Given the description of an element on the screen output the (x, y) to click on. 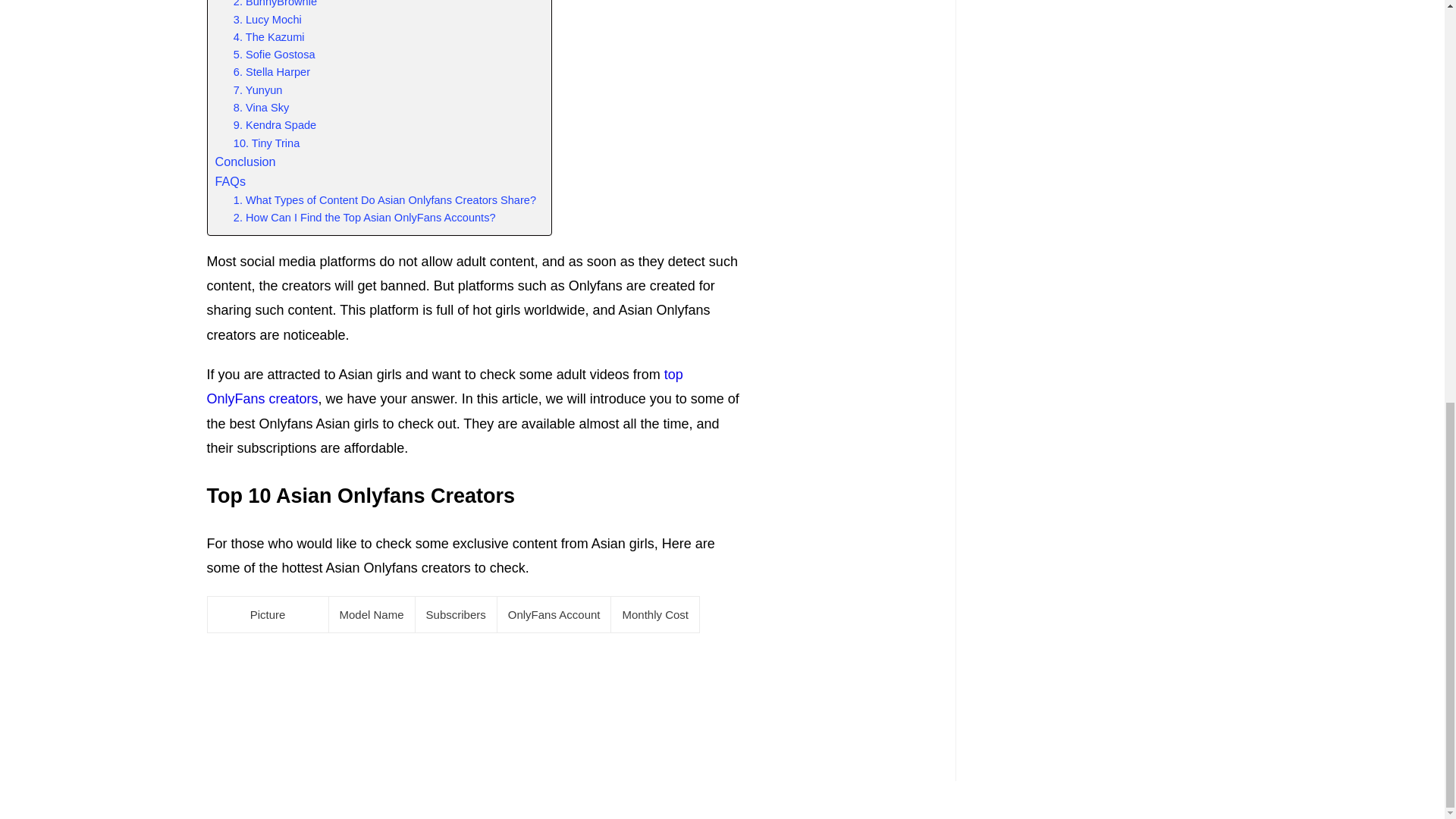
8. Vina Sky (260, 108)
9. Kendra Spade (273, 125)
10. Tiny Trina (265, 143)
7. Yunyun (257, 90)
3. Lucy Mochi (266, 19)
FAQs (230, 181)
2. BunnyBrownie (274, 5)
5. Sofie Gostosa (273, 54)
Conclusion (245, 161)
4. The Kazumi (268, 36)
6. Stella Harper (271, 72)
